Given the description of an element on the screen output the (x, y) to click on. 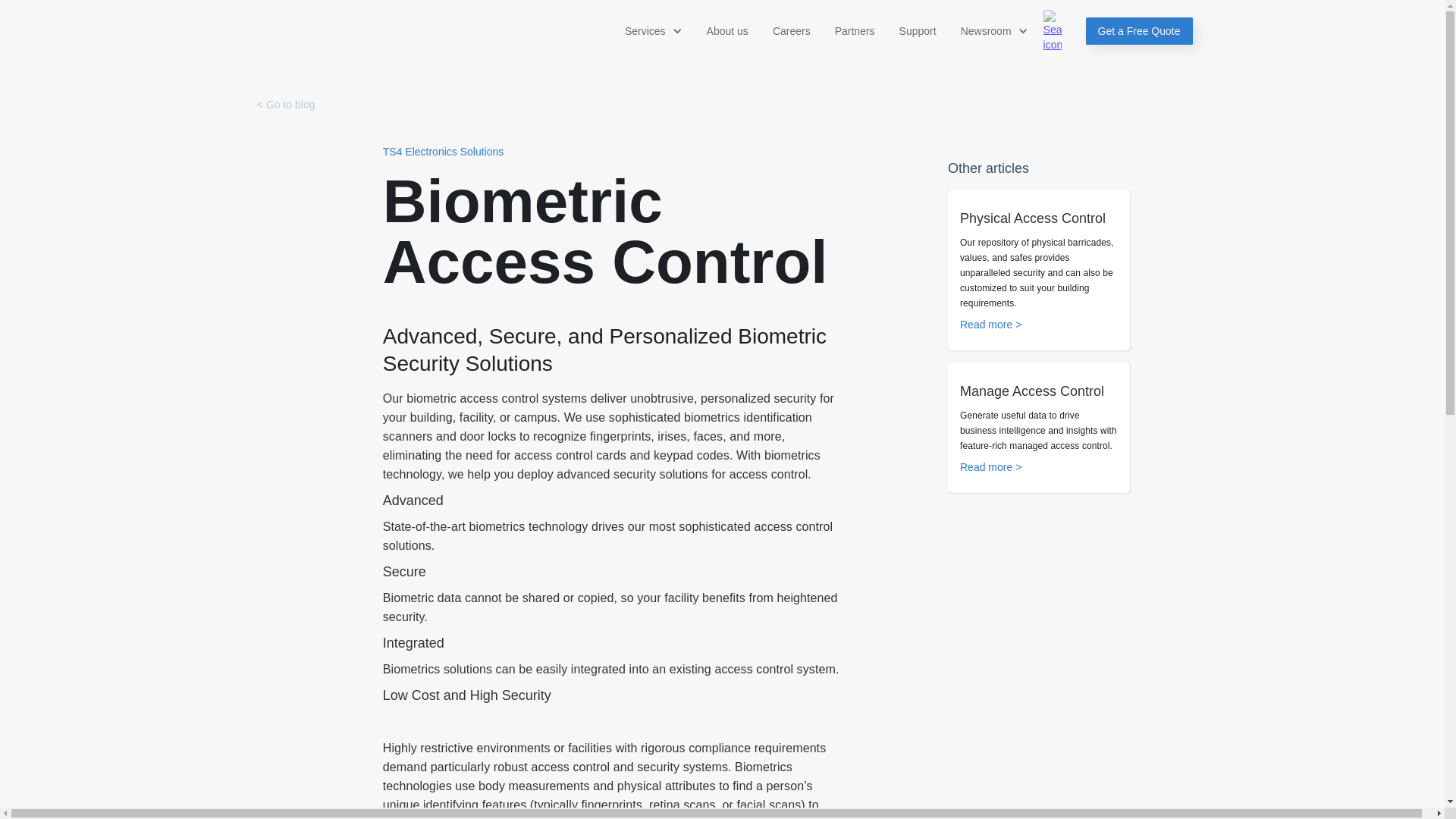
Support (917, 31)
Privacy policy (1007, 628)
Contact Page (861, 601)
All Security Services (585, 601)
Get a Free Quote (1139, 31)
Personnel Security (582, 628)
Digital Security (574, 656)
Careers (791, 31)
Partners (854, 31)
About us (727, 31)
Partners (705, 601)
Support (705, 656)
Electronics Security (886, 694)
About TS4 (583, 684)
